Given the description of an element on the screen output the (x, y) to click on. 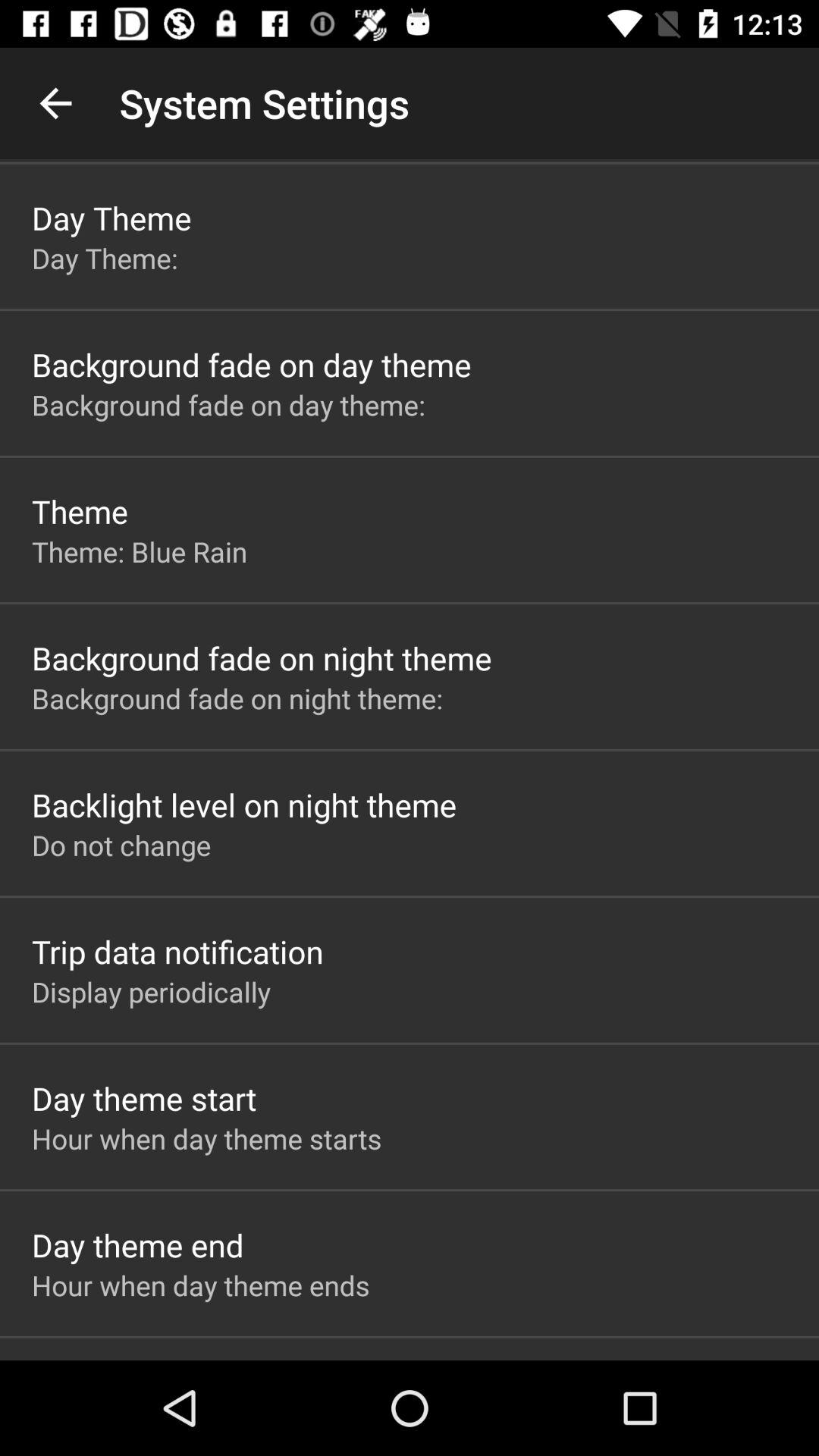
select the icon above the display periodically icon (177, 951)
